Given the description of an element on the screen output the (x, y) to click on. 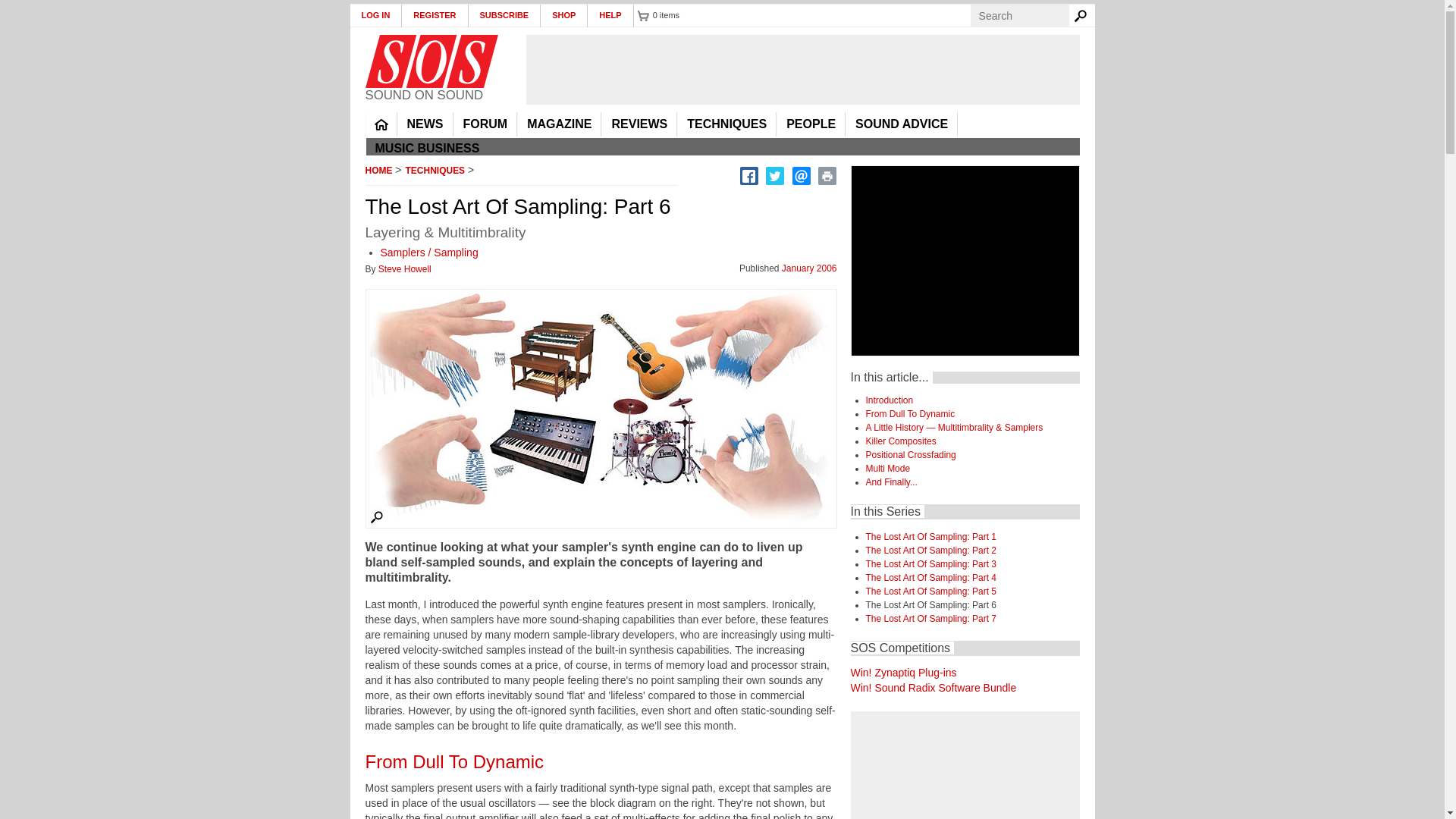
REGISTER (434, 15)
NEWS (424, 124)
Home (431, 61)
LOG IN (376, 15)
Search (1082, 15)
HOME (380, 124)
Search (1082, 15)
SUBSCRIBE (504, 15)
SHOP (564, 15)
FORUM (484, 124)
MAGAZINE (558, 124)
HELP (610, 15)
